Given the description of an element on the screen output the (x, y) to click on. 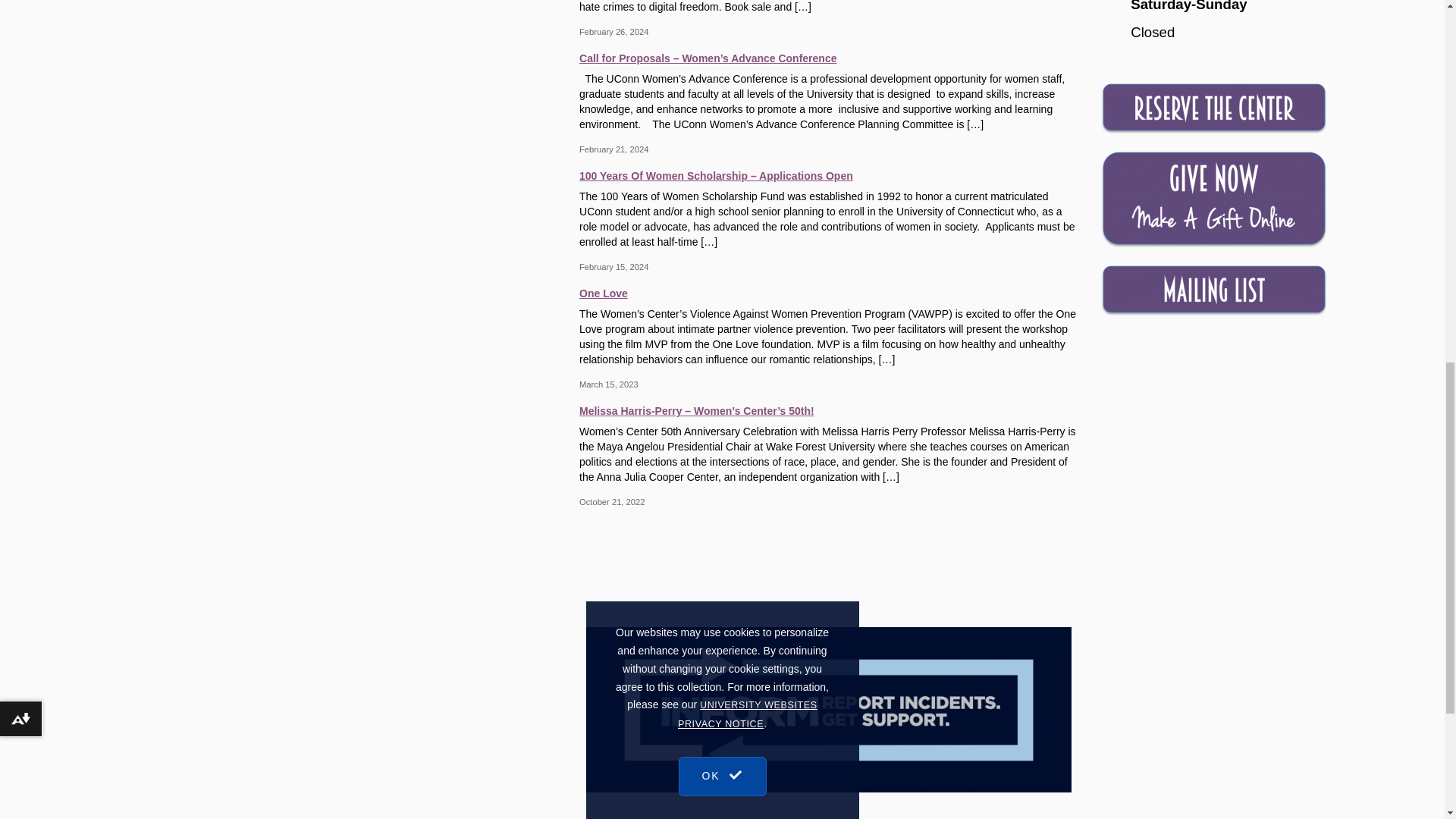
UNIVERSITY WEBSITES PRIVACY NOTICE (747, 88)
One Love (828, 291)
OK (721, 133)
